Given the description of an element on the screen output the (x, y) to click on. 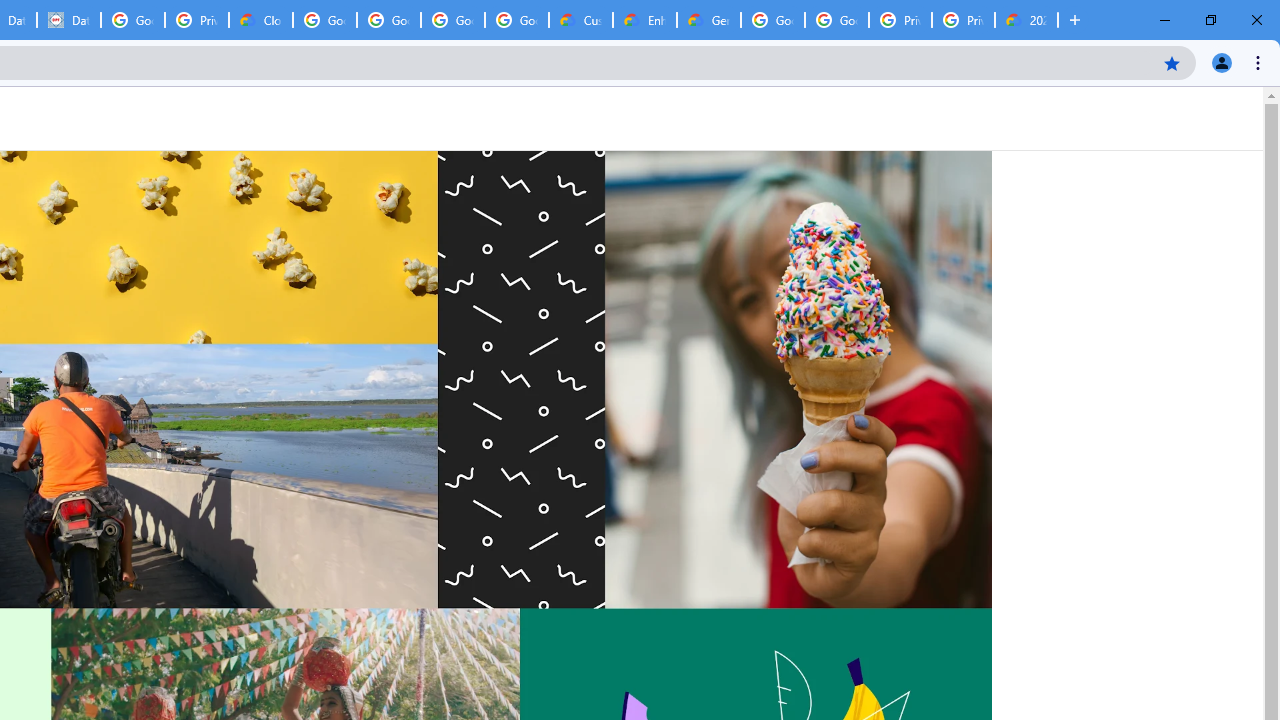
Cloud Data Processing Addendum | Google Cloud (261, 20)
Google Cloud Platform (837, 20)
Data Privacy Framework (69, 20)
